Given the description of an element on the screen output the (x, y) to click on. 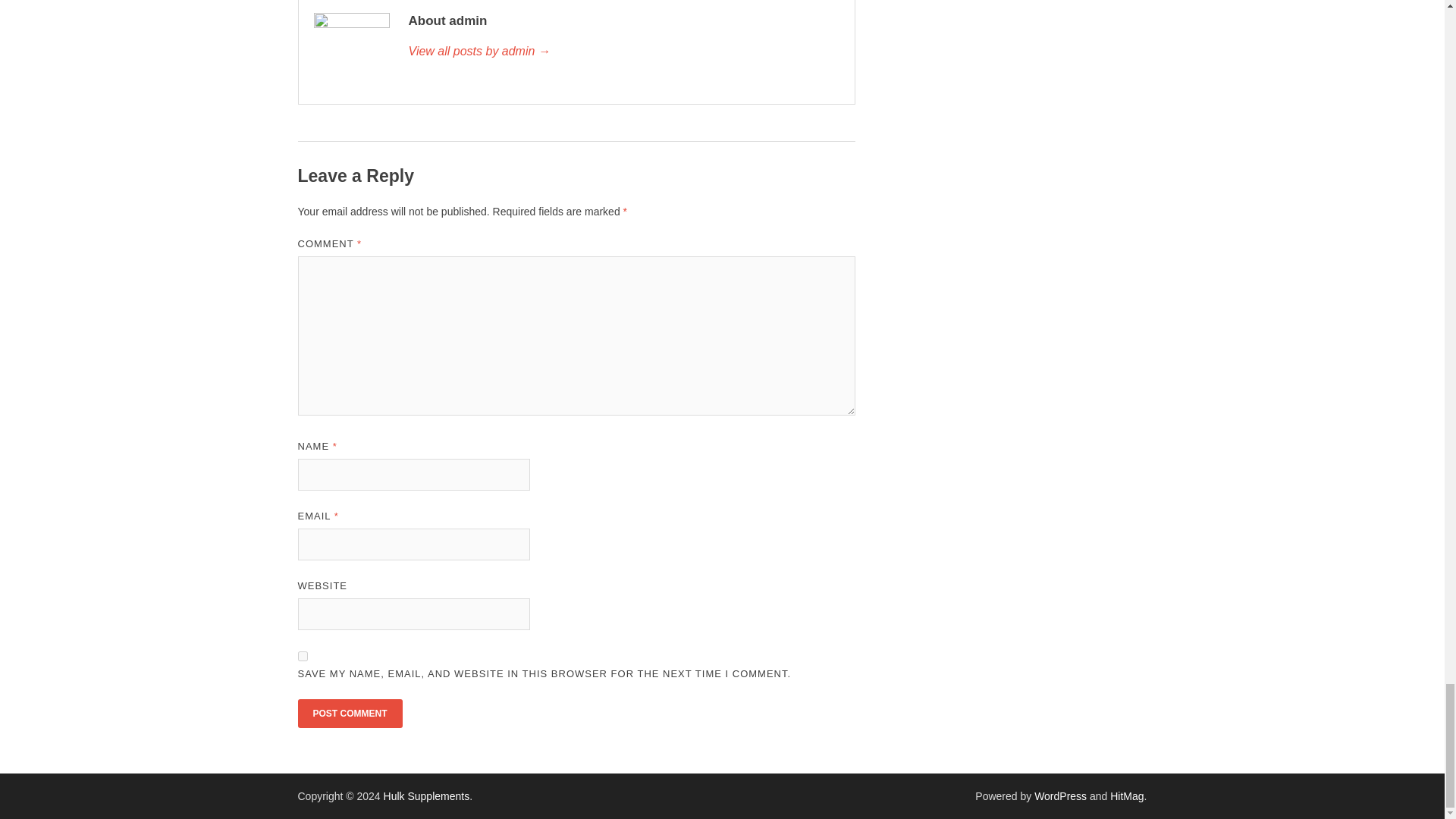
HitMag WordPress Theme (1125, 796)
yes (302, 655)
WordPress (1059, 796)
Hulk Supplements (427, 796)
Post Comment (349, 713)
Post Comment (349, 713)
admin (622, 51)
